Given the description of an element on the screen output the (x, y) to click on. 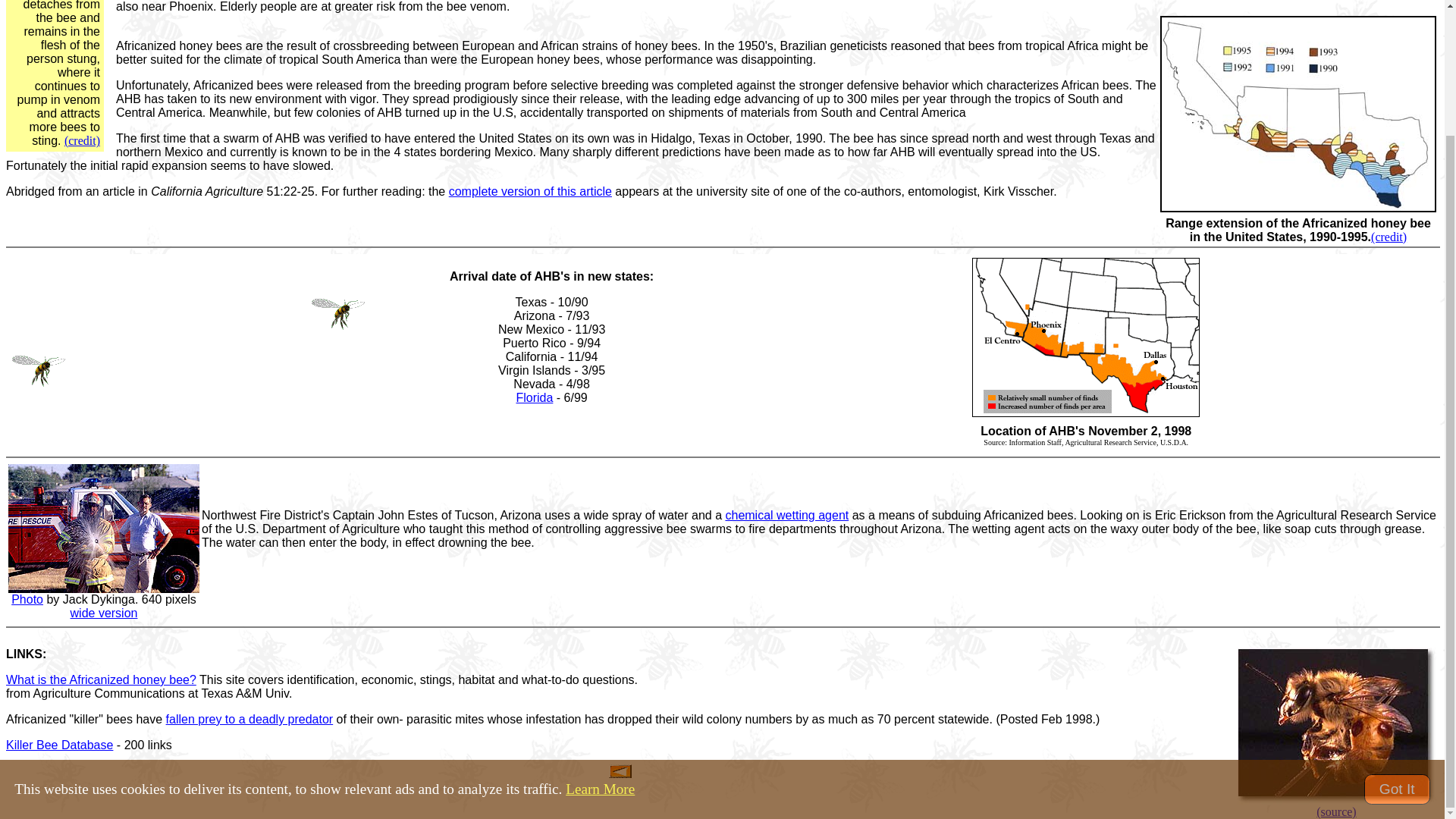
Got It (1396, 636)
fallen prey to a deadly predator (249, 718)
Photo (27, 599)
Florida (534, 397)
Learn More (600, 637)
What is the Africanized honey bee? (100, 679)
complete version of this article (529, 191)
chemical wetting agent (786, 514)
Killer Bee Database (59, 744)
wide version (103, 612)
Learn More (600, 637)
